Given the description of an element on the screen output the (x, y) to click on. 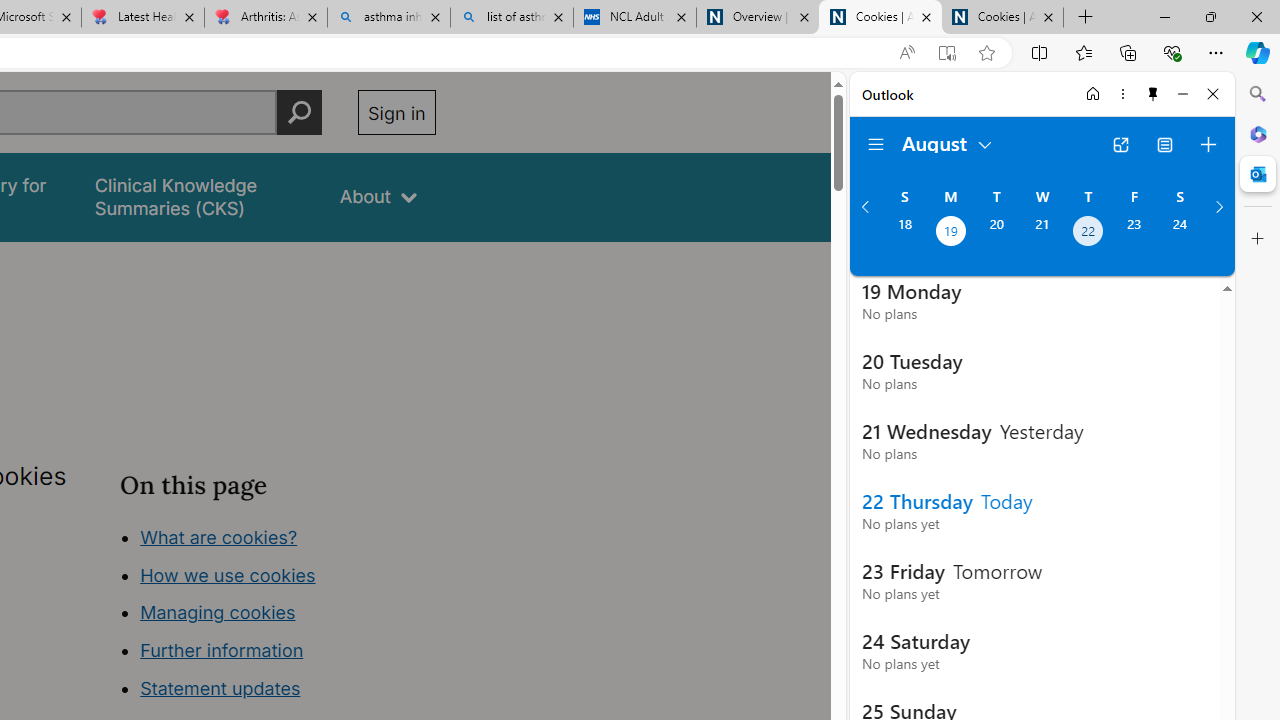
Thursday, August 22, 2024. Today.  (1088, 233)
Class: in-page-nav__list (277, 615)
Statement updates (219, 688)
Tuesday, August 20, 2024.  (996, 233)
Further information (221, 650)
Create event (1208, 144)
About (378, 196)
Friday, August 23, 2024.  (1134, 233)
